Given the description of an element on the screen output the (x, y) to click on. 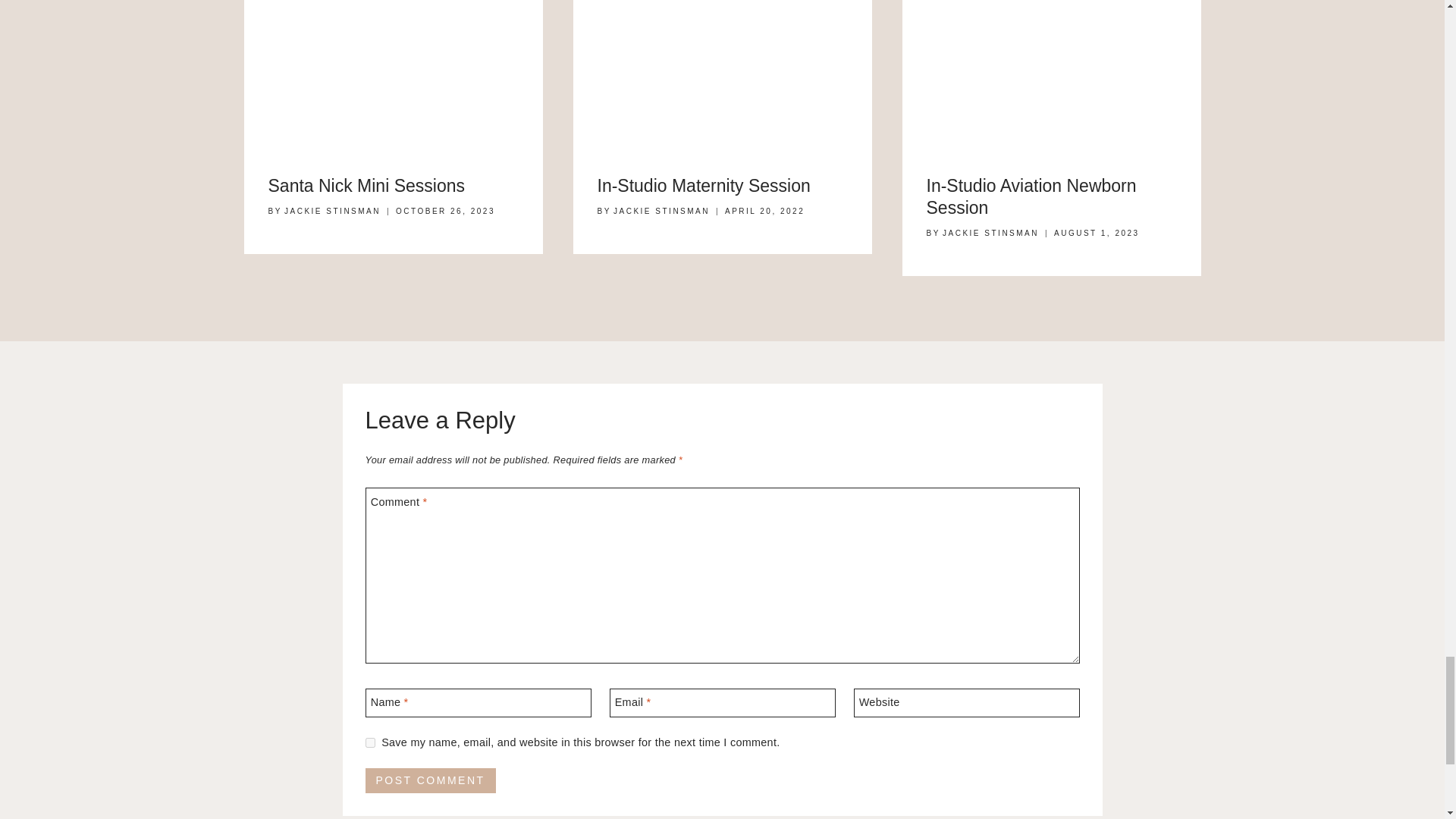
JACKIE STINSMAN (661, 211)
Post Comment (430, 780)
Santa Nick Mini Sessions (366, 185)
yes (370, 742)
JACKIE STINSMAN (331, 211)
In-Studio Maternity Session (703, 185)
